Given the description of an element on the screen output the (x, y) to click on. 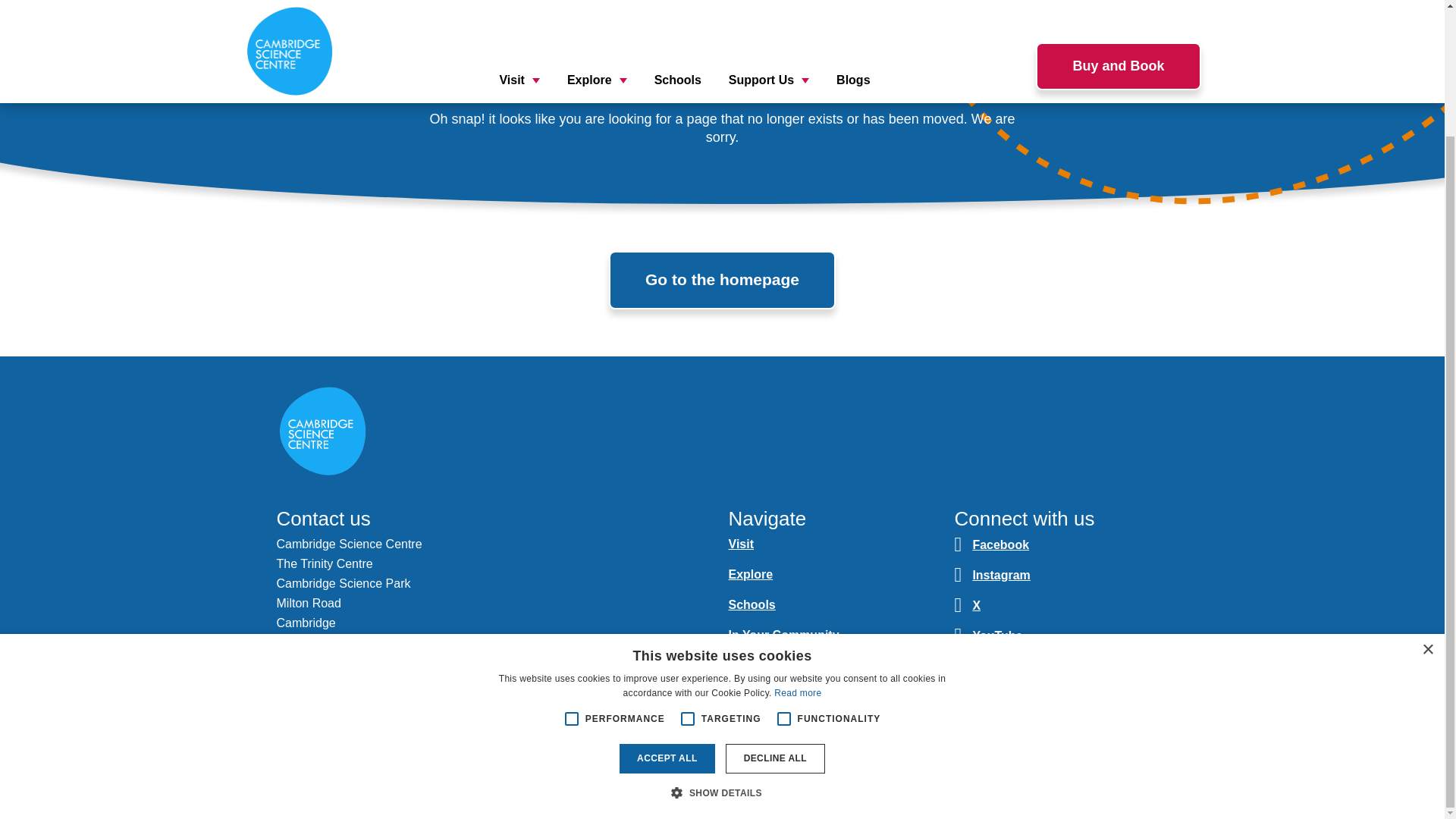
T: 01223 967965 (321, 676)
Schools (751, 604)
Explore (750, 574)
Visit (741, 543)
Go to the homepage (721, 279)
